Given the description of an element on the screen output the (x, y) to click on. 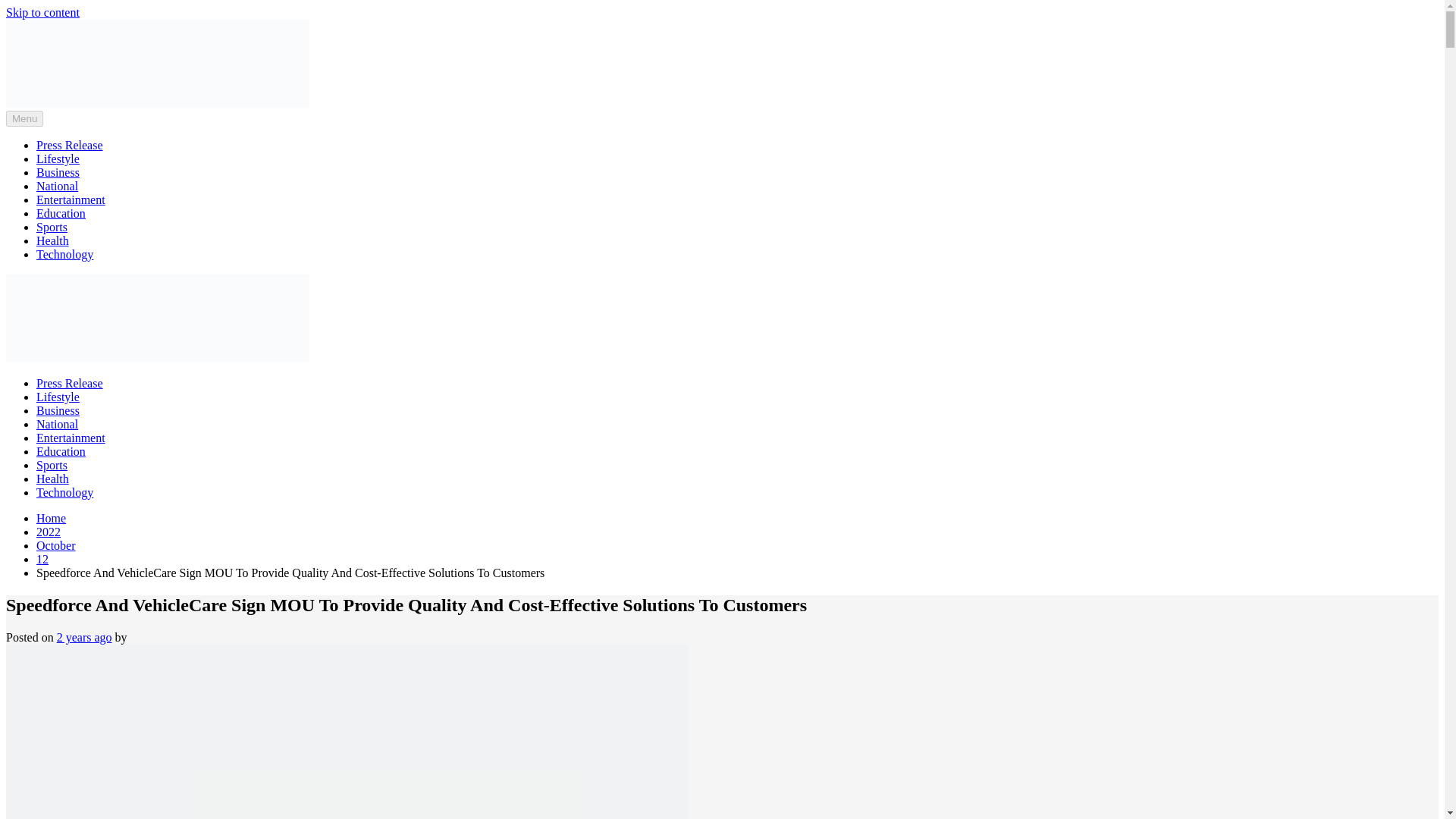
2 years ago (84, 636)
Education (60, 451)
Skip to content (42, 11)
Press Release (69, 144)
India First News (70, 135)
Business (58, 172)
National (57, 423)
Technology (64, 254)
Sports (51, 226)
Press Release (69, 382)
12 (42, 558)
Lifestyle (58, 158)
2022 (48, 531)
National (57, 185)
Menu (24, 118)
